Given the description of an element on the screen output the (x, y) to click on. 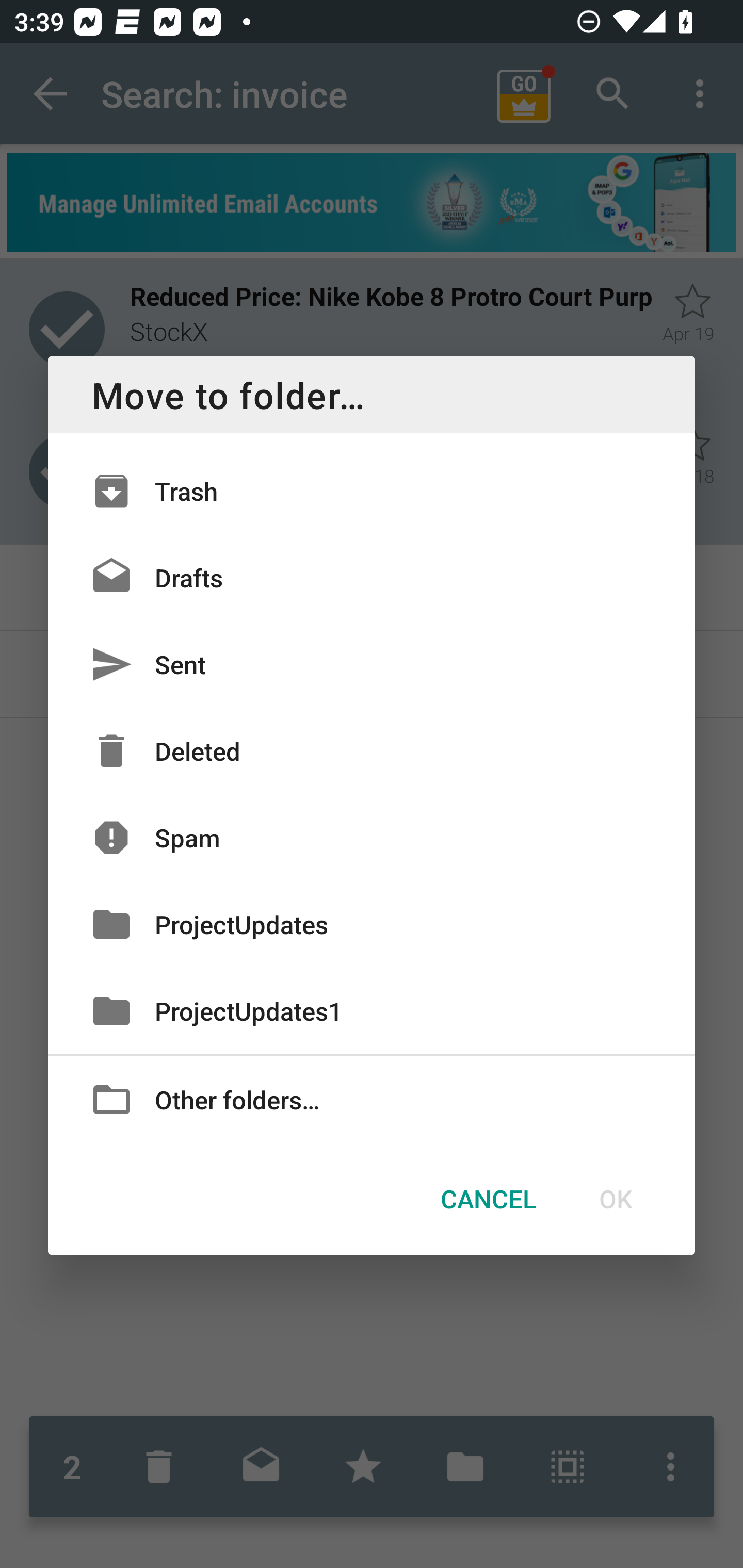
Trash (371, 491)
Drafts (371, 577)
Sent (371, 663)
Deleted (371, 750)
Spam (371, 837)
ProjectUpdates (371, 924)
ProjectUpdates1 (371, 1010)
Other folders… (371, 1098)
CANCEL (488, 1199)
OK (615, 1199)
